Given the description of an element on the screen output the (x, y) to click on. 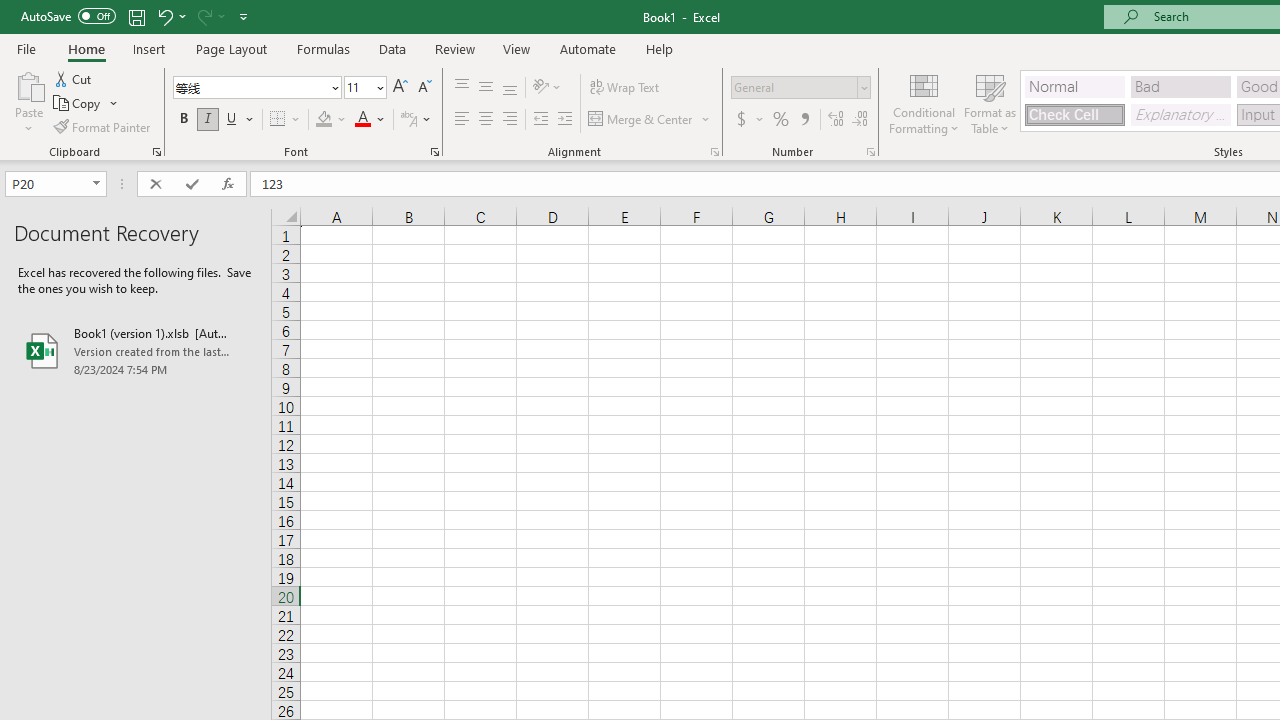
Format Cell Alignment (714, 151)
Italic (207, 119)
Underline (239, 119)
